Given the description of an element on the screen output the (x, y) to click on. 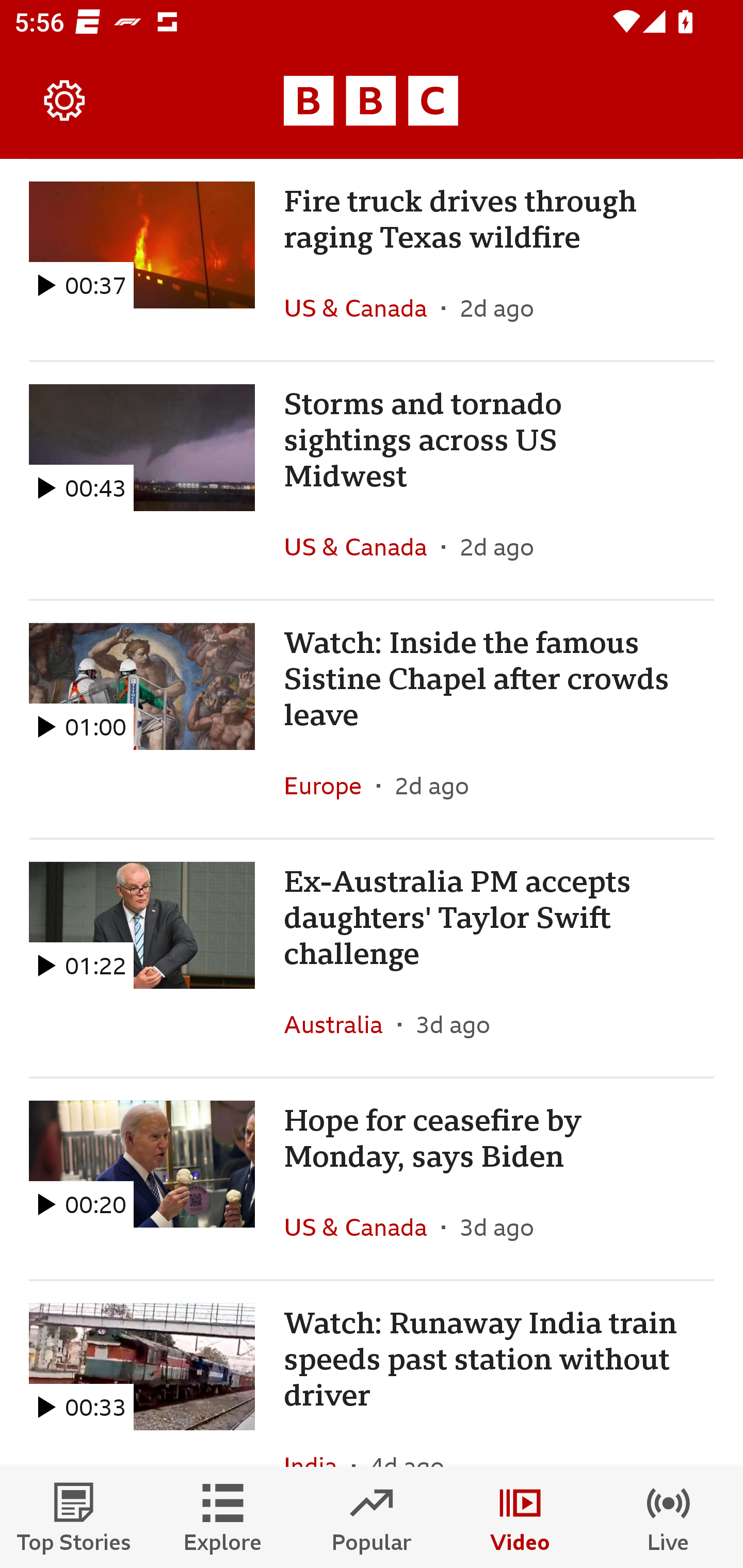
Settings (64, 100)
US & Canada In the section US & Canada (362, 307)
US & Canada In the section US & Canada (362, 545)
Europe In the section Europe (329, 785)
Australia In the section Australia (340, 1024)
US & Canada In the section US & Canada (362, 1226)
Top Stories (74, 1517)
Explore (222, 1517)
Popular (371, 1517)
Live (668, 1517)
